Given the description of an element on the screen output the (x, y) to click on. 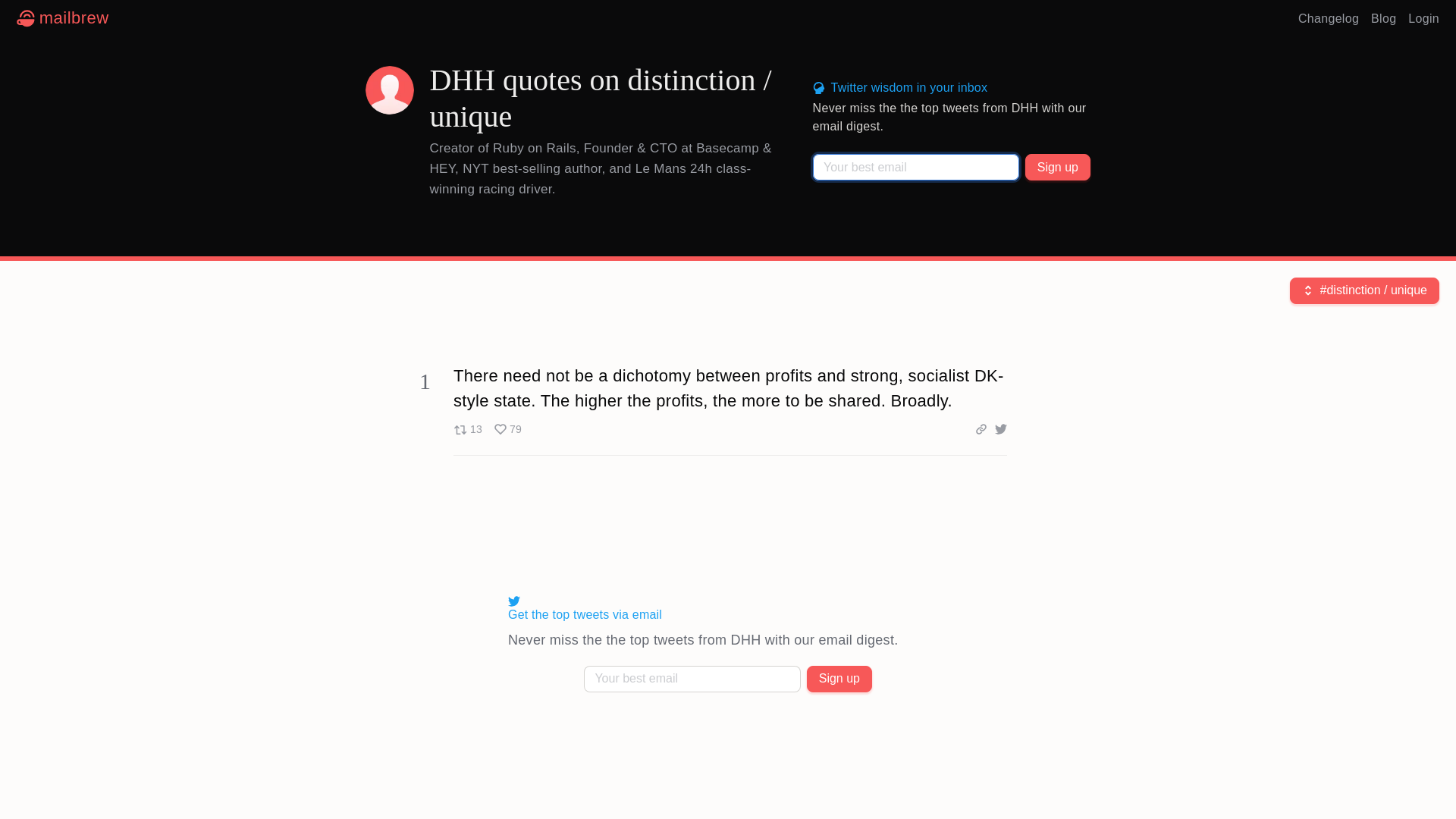
Sign up (1057, 166)
mailbrew (62, 18)
Sign up (486, 429)
Login (839, 678)
Blog (1423, 18)
Changelog (1383, 18)
